Given the description of an element on the screen output the (x, y) to click on. 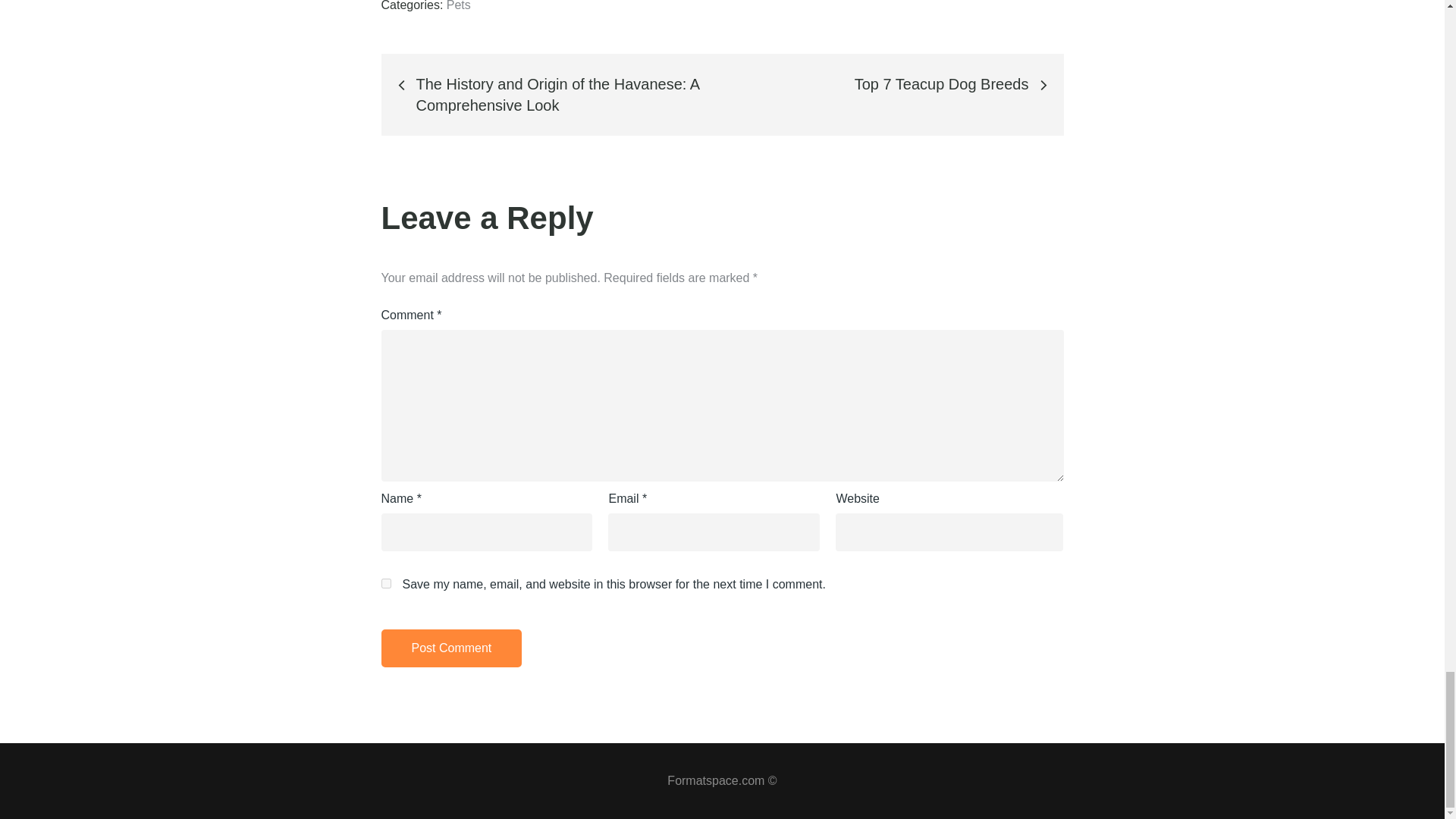
Post Comment (450, 648)
yes (385, 583)
Post Comment (450, 648)
Pets (458, 5)
